Given the description of an element on the screen output the (x, y) to click on. 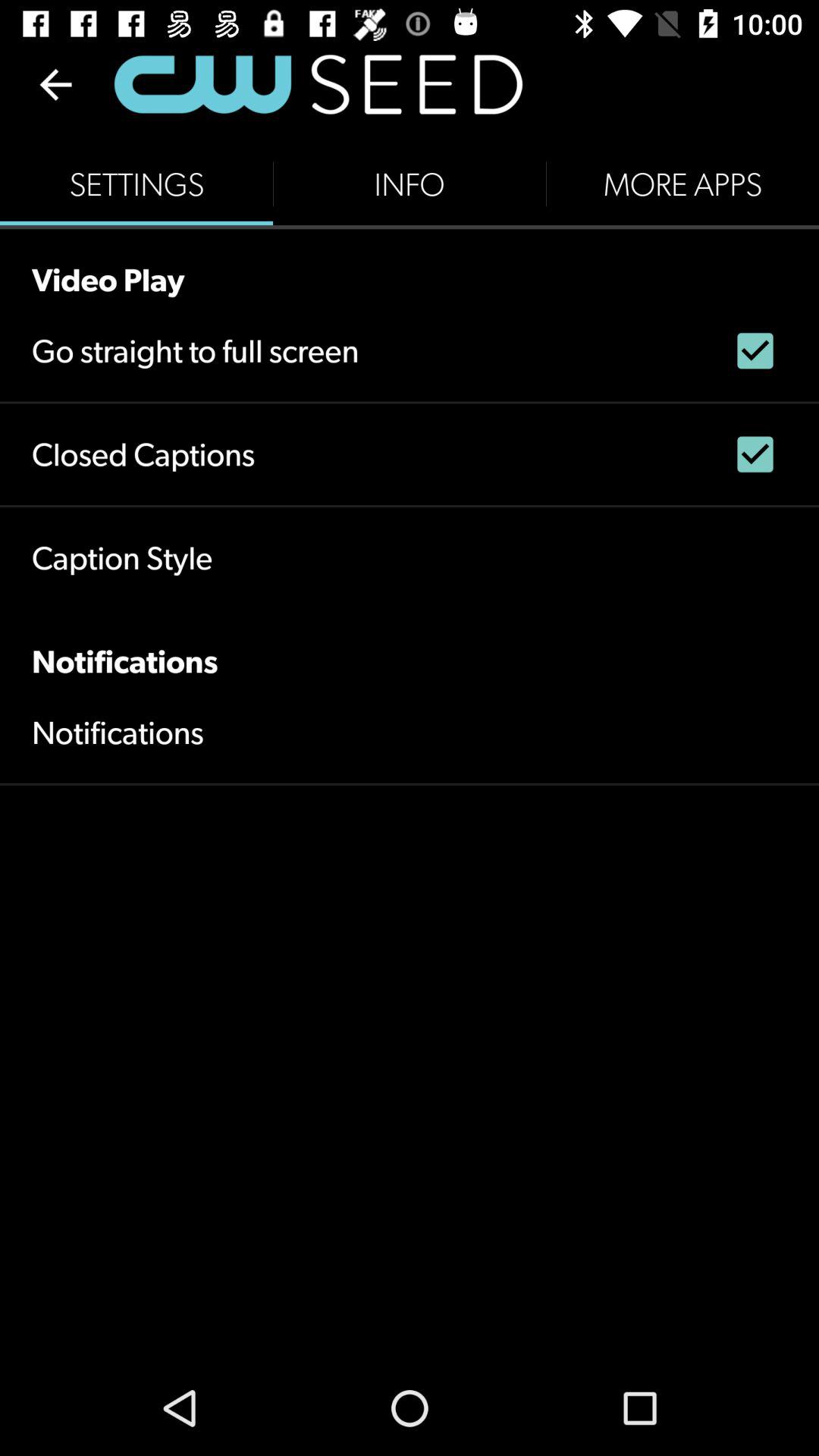
click on the info button (409, 183)
click on the button beside info (682, 183)
click on the text above the settings (317, 84)
